Given the description of an element on the screen output the (x, y) to click on. 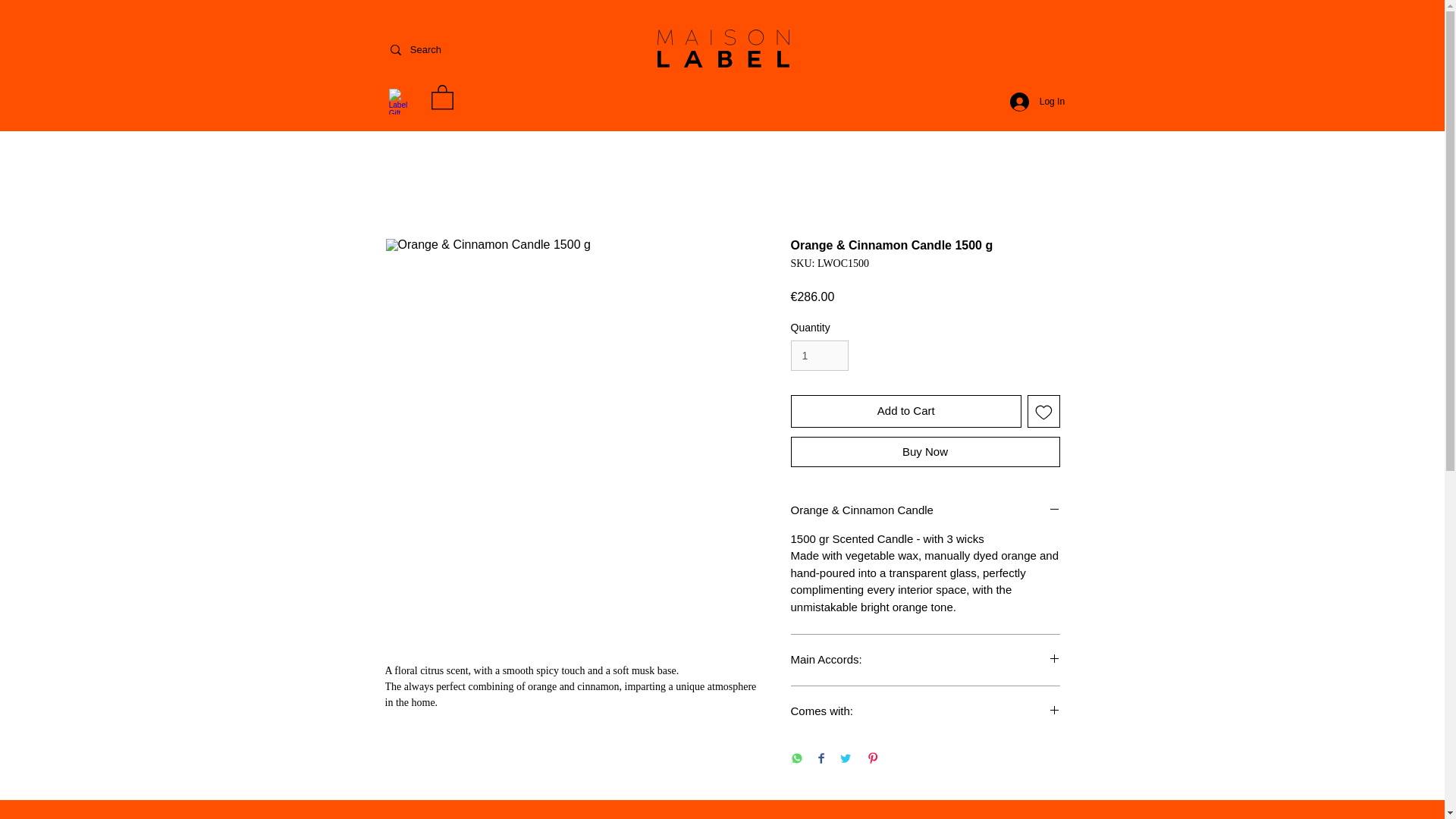
1 (818, 355)
Main Accords: (924, 659)
Log In (1025, 101)
Buy Now (924, 451)
Add to Cart (906, 410)
Comes with: (924, 711)
